Given the description of an element on the screen output the (x, y) to click on. 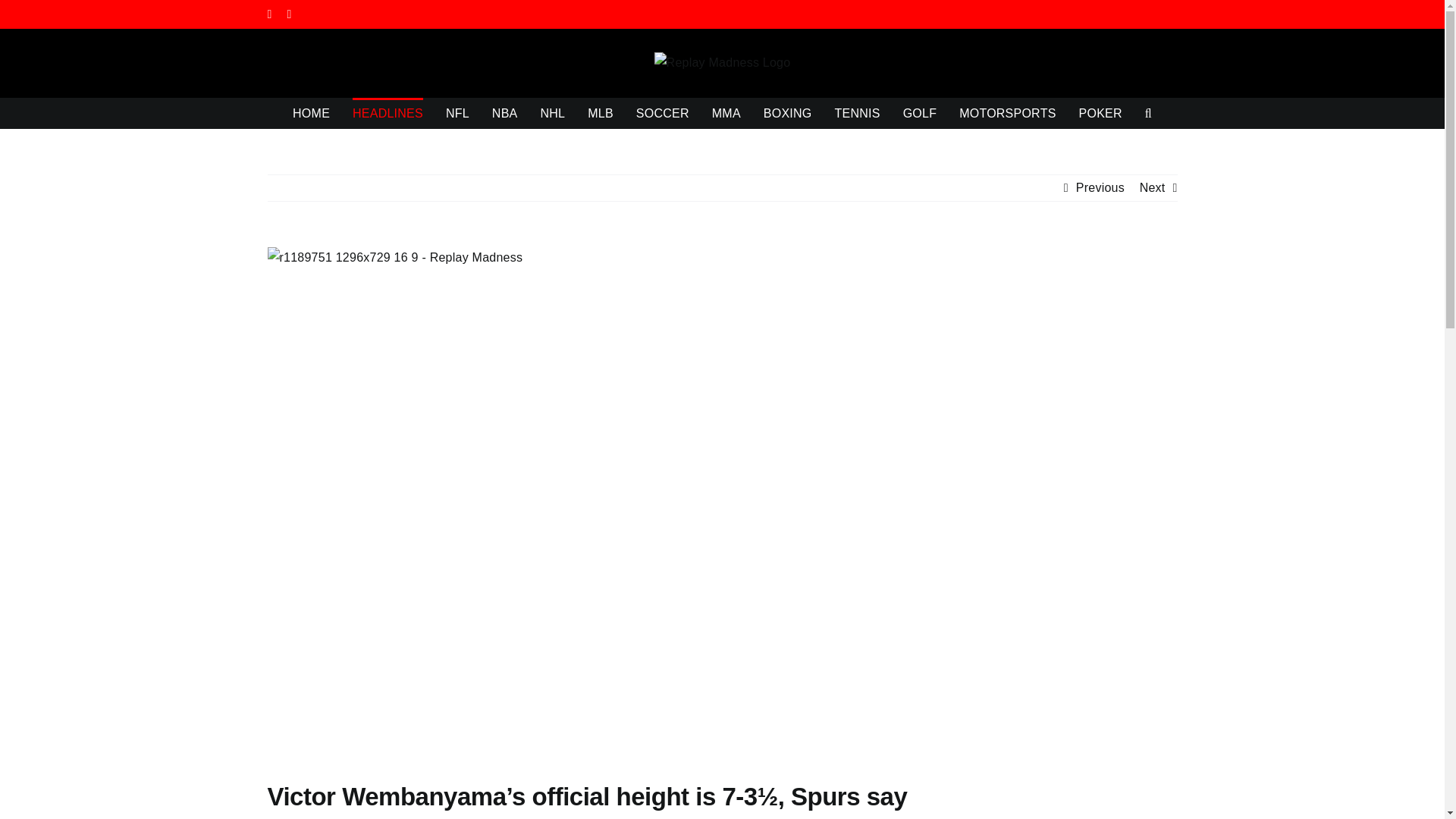
MMA (726, 112)
HEADLINES (387, 112)
GOLF (919, 112)
Next (1153, 187)
HOME (311, 112)
BOXING (787, 112)
SOCCER (662, 112)
Previous (1099, 187)
TENNIS (856, 112)
POKER (1100, 112)
MOTORSPORTS (1007, 112)
